Given the description of an element on the screen output the (x, y) to click on. 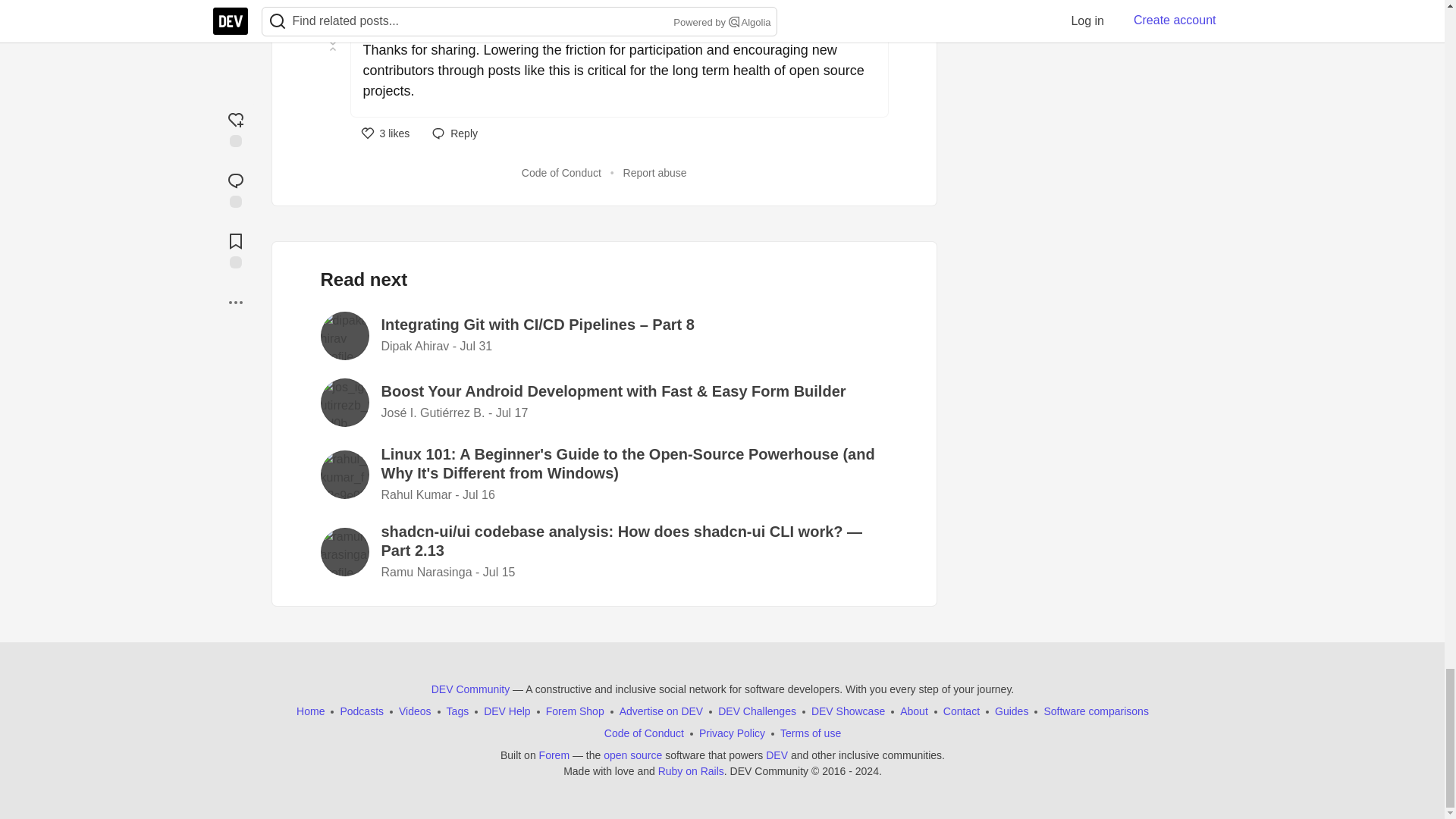
Dropdown menu (870, 13)
